Given the description of an element on the screen output the (x, y) to click on. 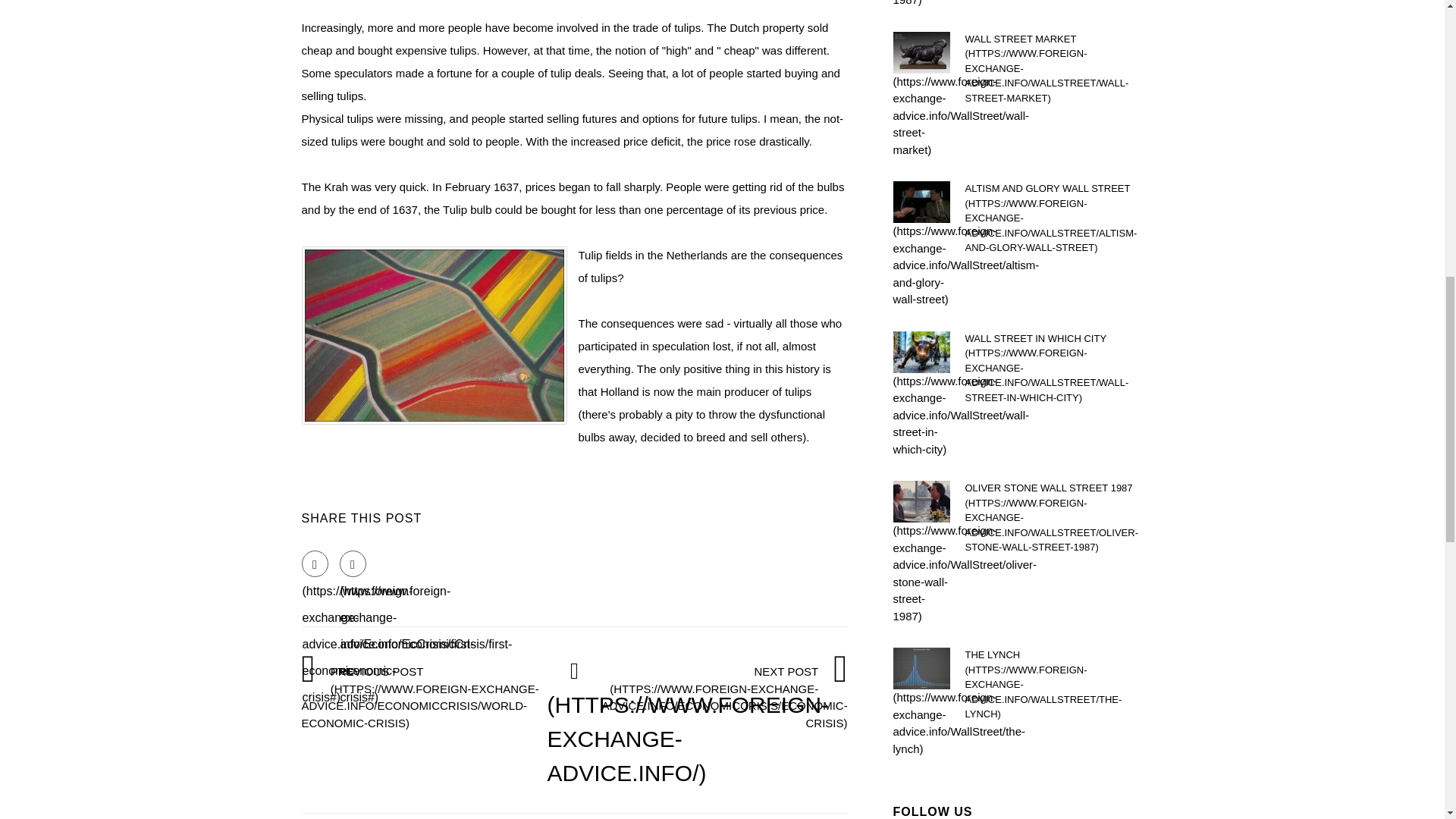
OLIVER STONE WALL STREET 1987 (1052, 517)
WALL STREET MARKET (1052, 68)
ALTISM AND GLORY WALL STREET (1052, 217)
WALL STREET IN WHICH CITY (1052, 367)
Twitter (352, 563)
PREVIOUS POST (424, 696)
Facebook (315, 563)
THE LYNCH (1052, 684)
NEXT POST (724, 696)
